Given the description of an element on the screen output the (x, y) to click on. 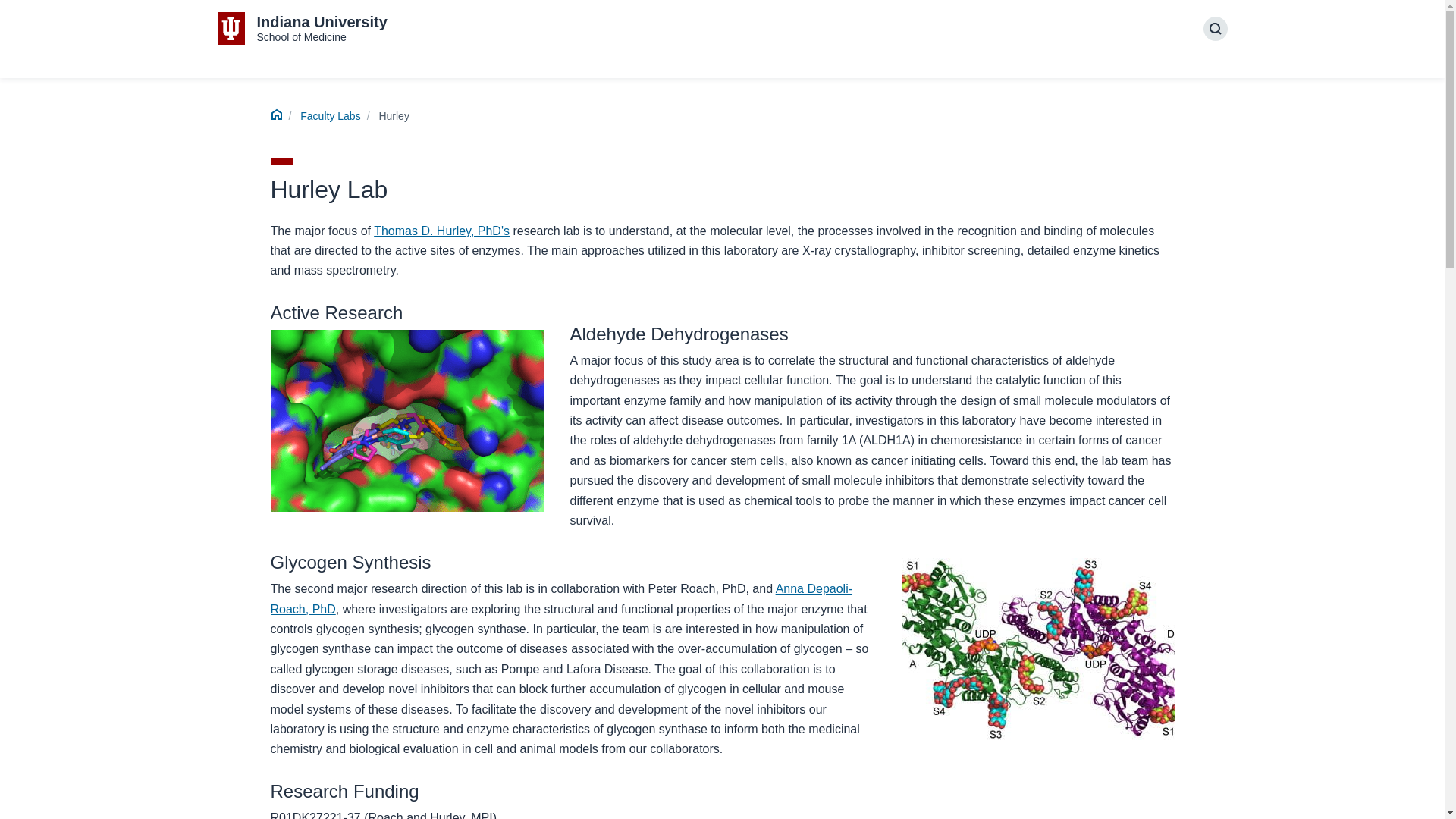
Thomas D. Hurley, PhD's (441, 230)
Home (275, 116)
Anna Depaoli-Roach, PhD (560, 598)
Faculty Labs (329, 115)
Toggle Search Box (301, 28)
